Given the description of an element on the screen output the (x, y) to click on. 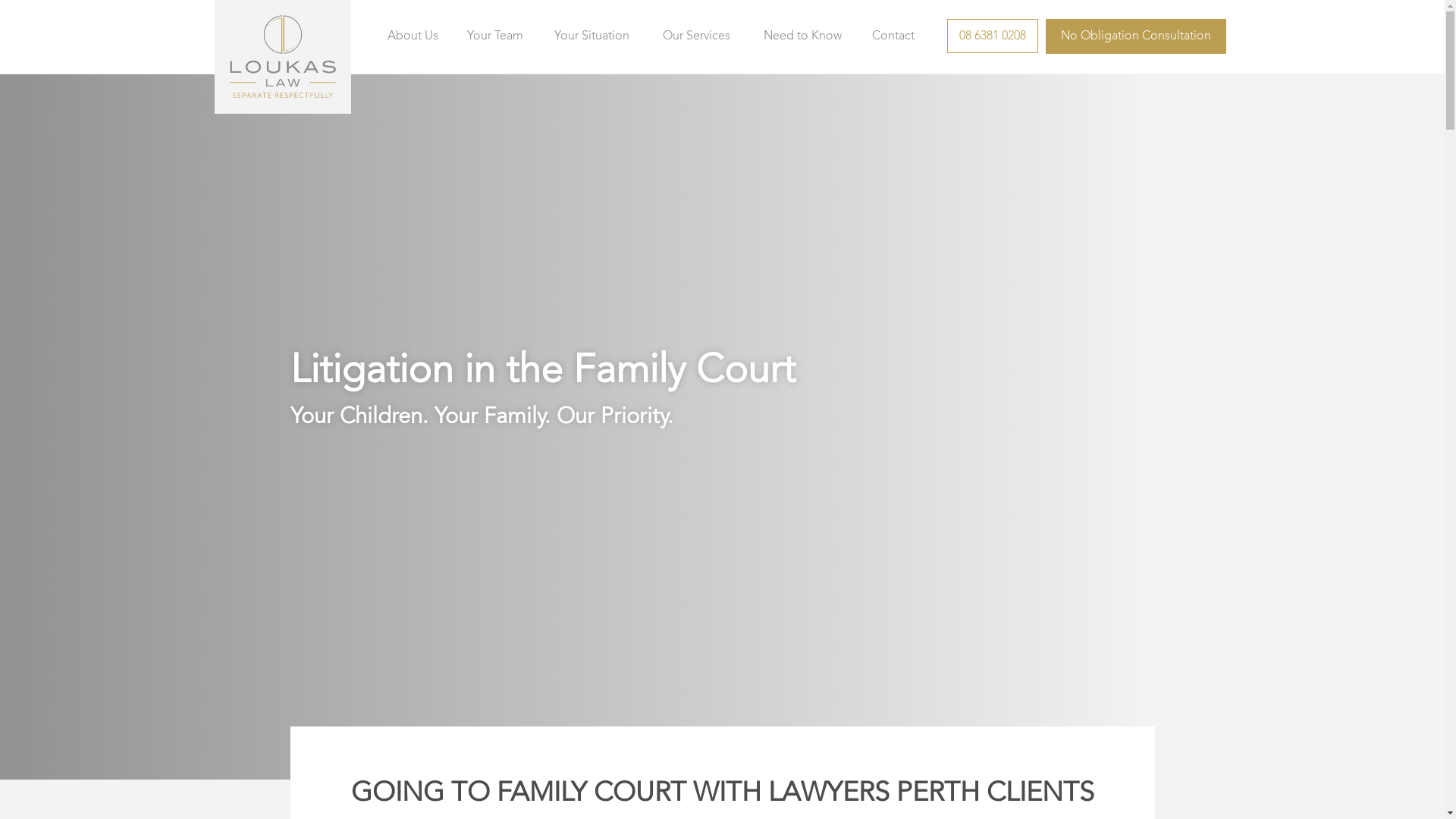
Your Team Element type: text (495, 36)
08 6381 0208 Element type: text (991, 35)
No Obligation Consultation Element type: text (1134, 35)
About Us Element type: text (412, 36)
Need to Know Element type: text (802, 36)
Contact Element type: text (893, 36)
Our Services Element type: text (696, 36)
Your Situation Element type: text (591, 36)
